Given the description of an element on the screen output the (x, y) to click on. 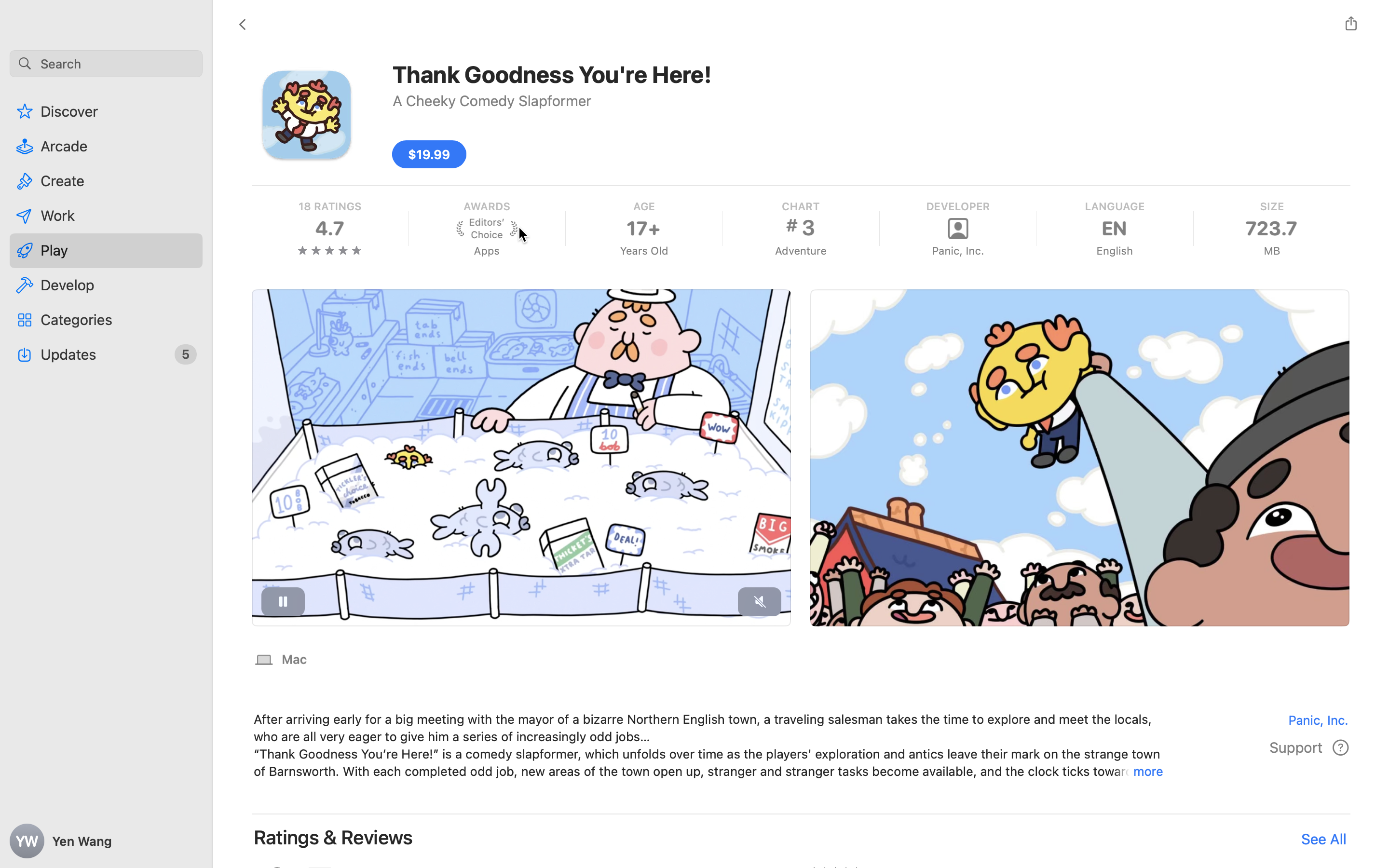
Years Old Element type: AXStaticText (642, 250)
Apps Element type: AXStaticText (485, 250)
# Element type: AXStaticText (791, 225)
four and three quarters stars Element type: AXStaticText (329, 249)
Ratings & Reviews Element type: AXStaticText (333, 836)
